Given the description of an element on the screen output the (x, y) to click on. 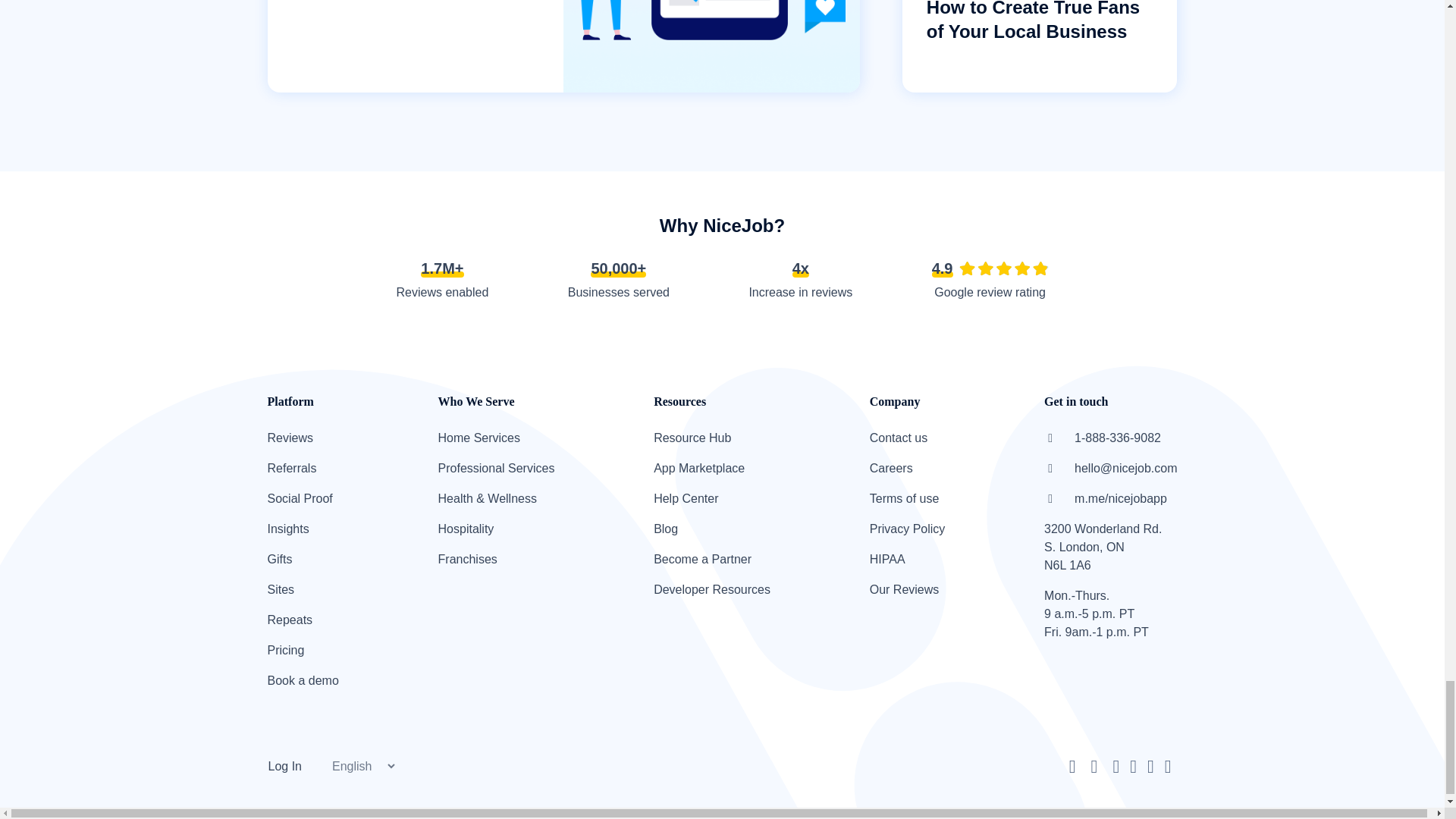
messenger (1093, 766)
